Given the description of an element on the screen output the (x, y) to click on. 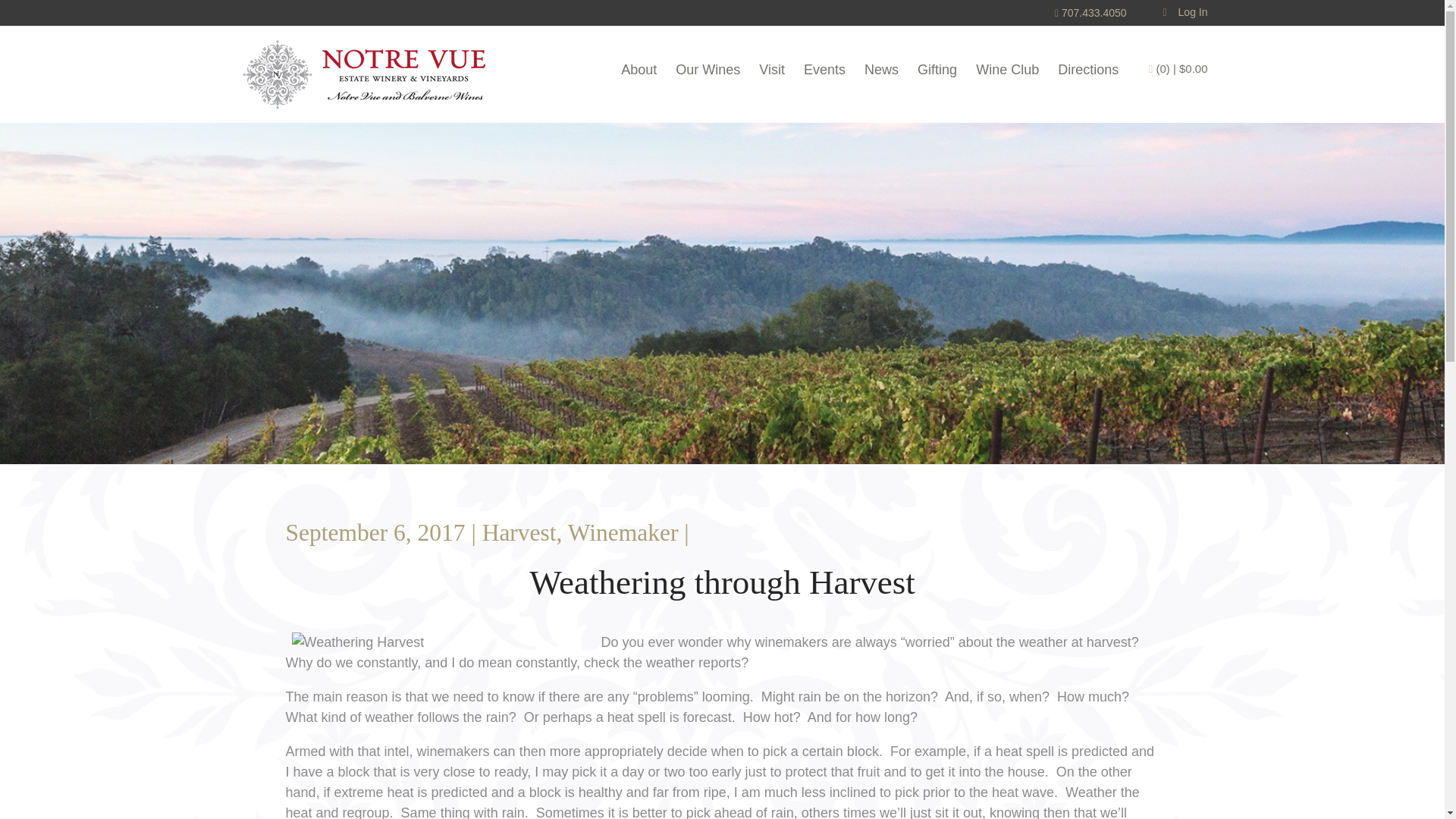
Notre Vue (362, 74)
Log In (1185, 11)
707.433.4050 (1090, 12)
